Given the description of an element on the screen output the (x, y) to click on. 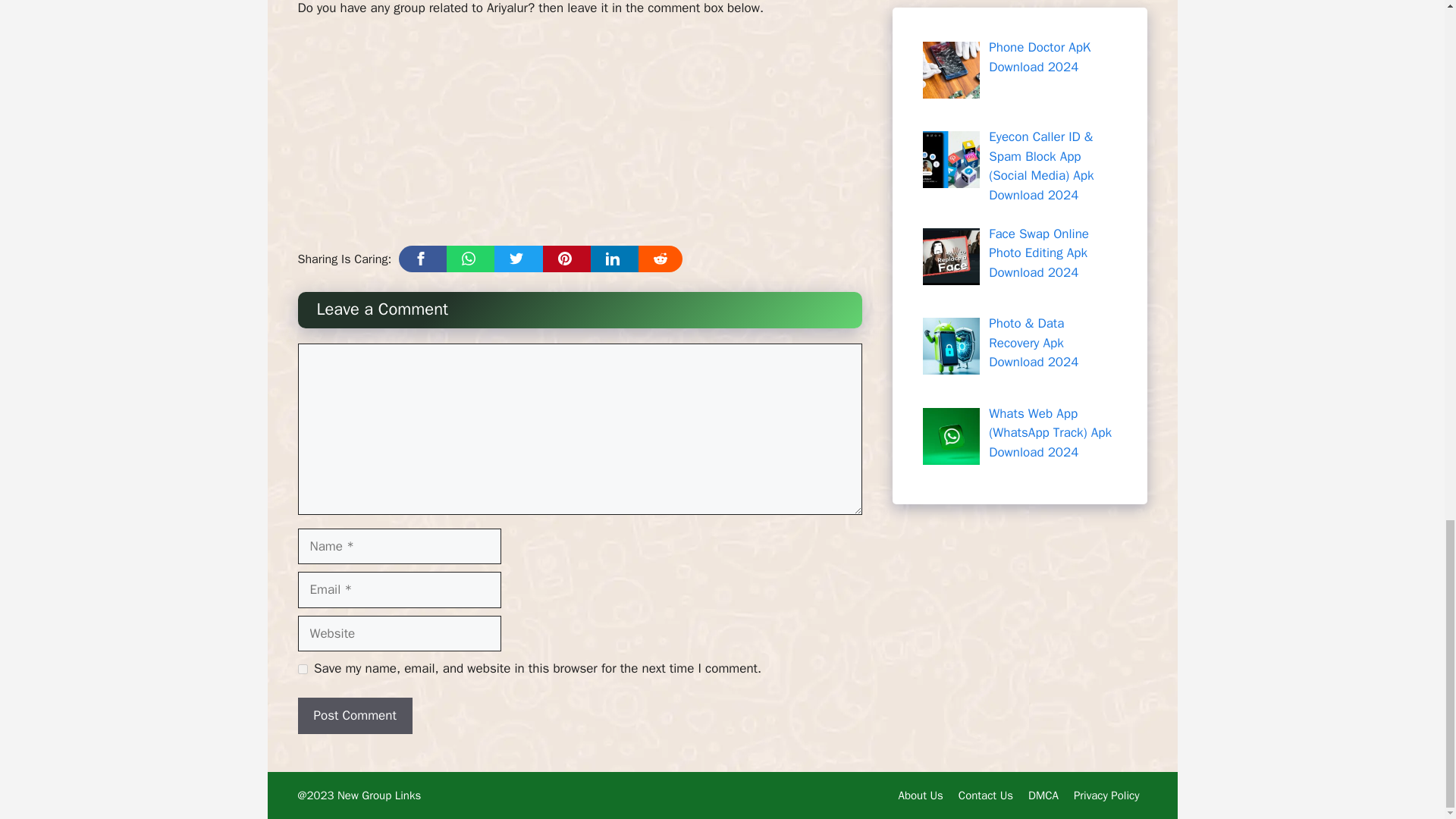
yes (302, 669)
Post Comment (354, 715)
Scroll back to top (1406, 91)
